Given the description of an element on the screen output the (x, y) to click on. 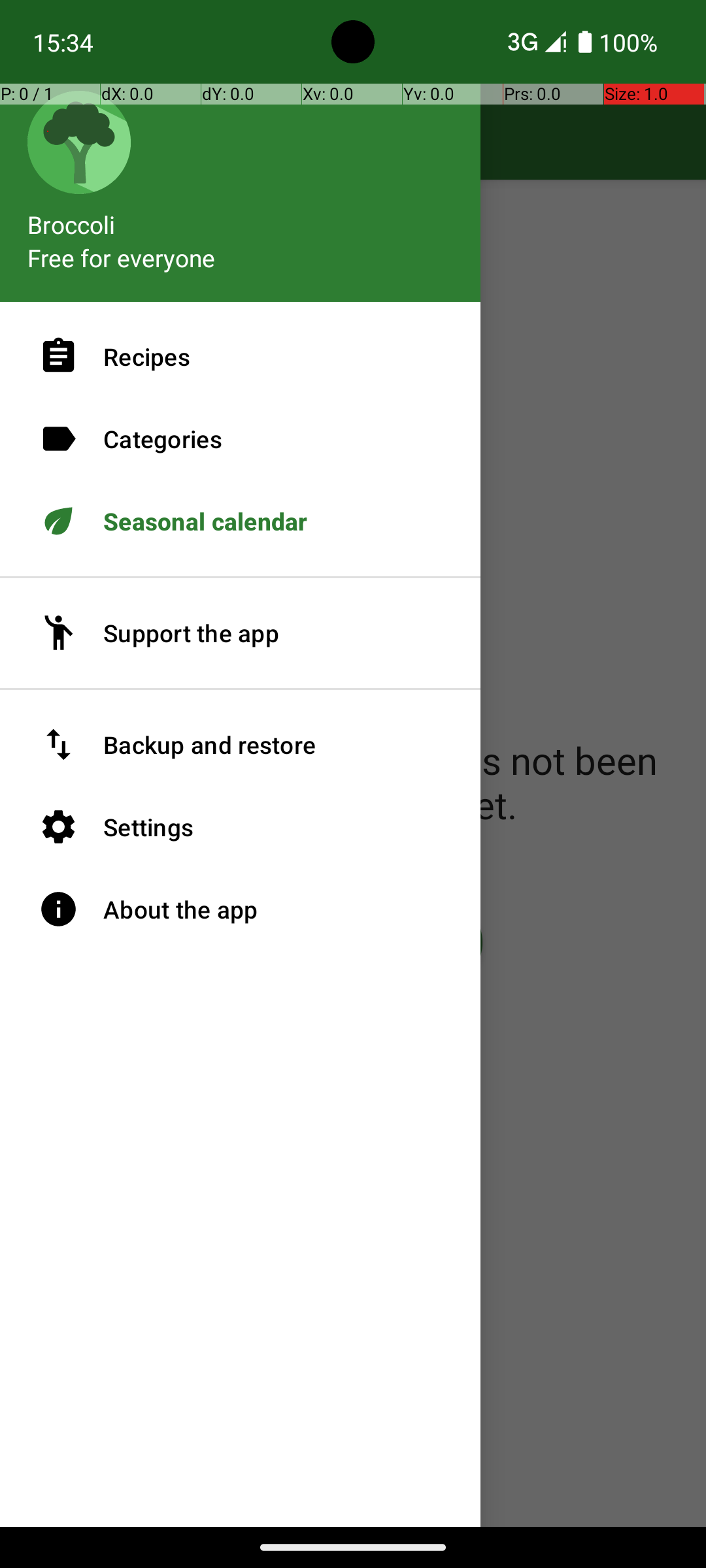
Broccoli Element type: android.widget.TextView (240, 217)
Free for everyone Element type: android.widget.TextView (121, 257)
Seasonal calendar Element type: android.widget.CheckedTextView (239, 521)
Support the app Element type: android.widget.CheckedTextView (239, 632)
Backup and restore Element type: android.widget.CheckedTextView (239, 744)
About the app Element type: android.widget.CheckedTextView (239, 909)
